Given the description of an element on the screen output the (x, y) to click on. 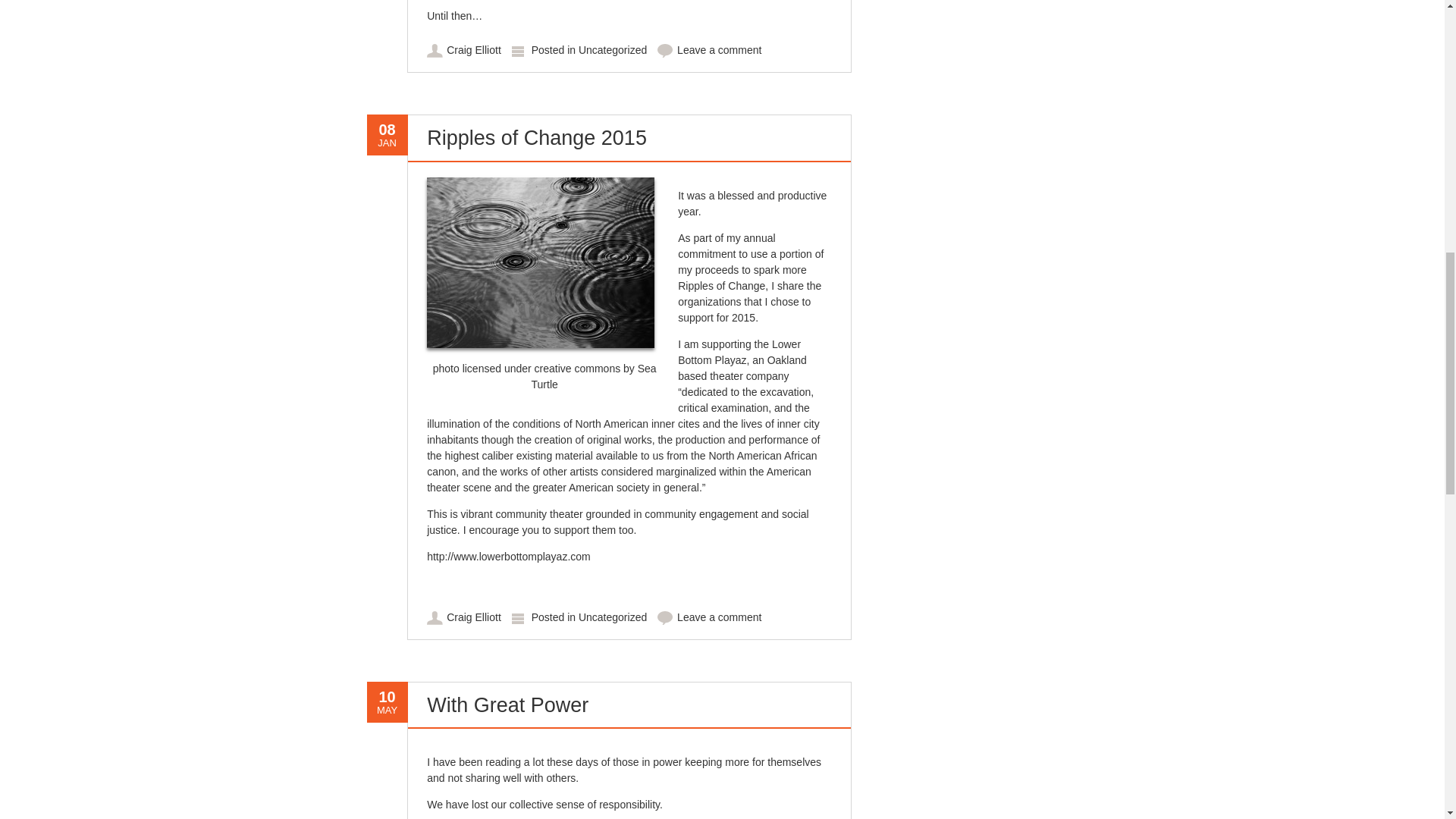
Leave a comment (719, 50)
Permalink to With Great Power (507, 704)
With Great Power (507, 704)
Ripples of Change 2015 (536, 137)
Craig Elliott (473, 50)
Permalink to Ripples of Change 2015 (536, 137)
Uncategorized (612, 50)
Craig Elliott (473, 616)
Leave a comment (719, 616)
Uncategorized (612, 616)
